Given the description of an element on the screen output the (x, y) to click on. 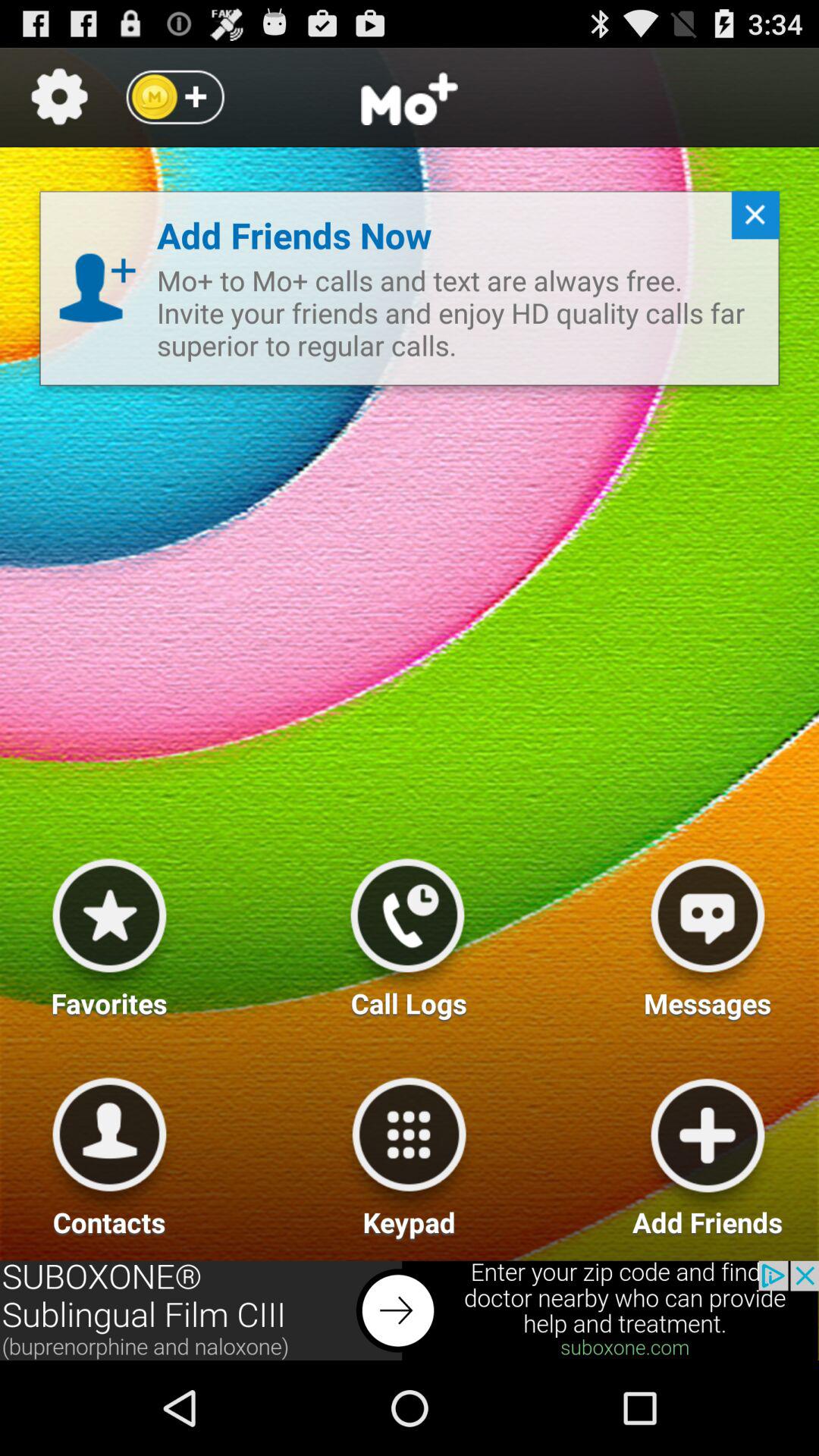
go to key pad option (408, 1151)
